Given the description of an element on the screen output the (x, y) to click on. 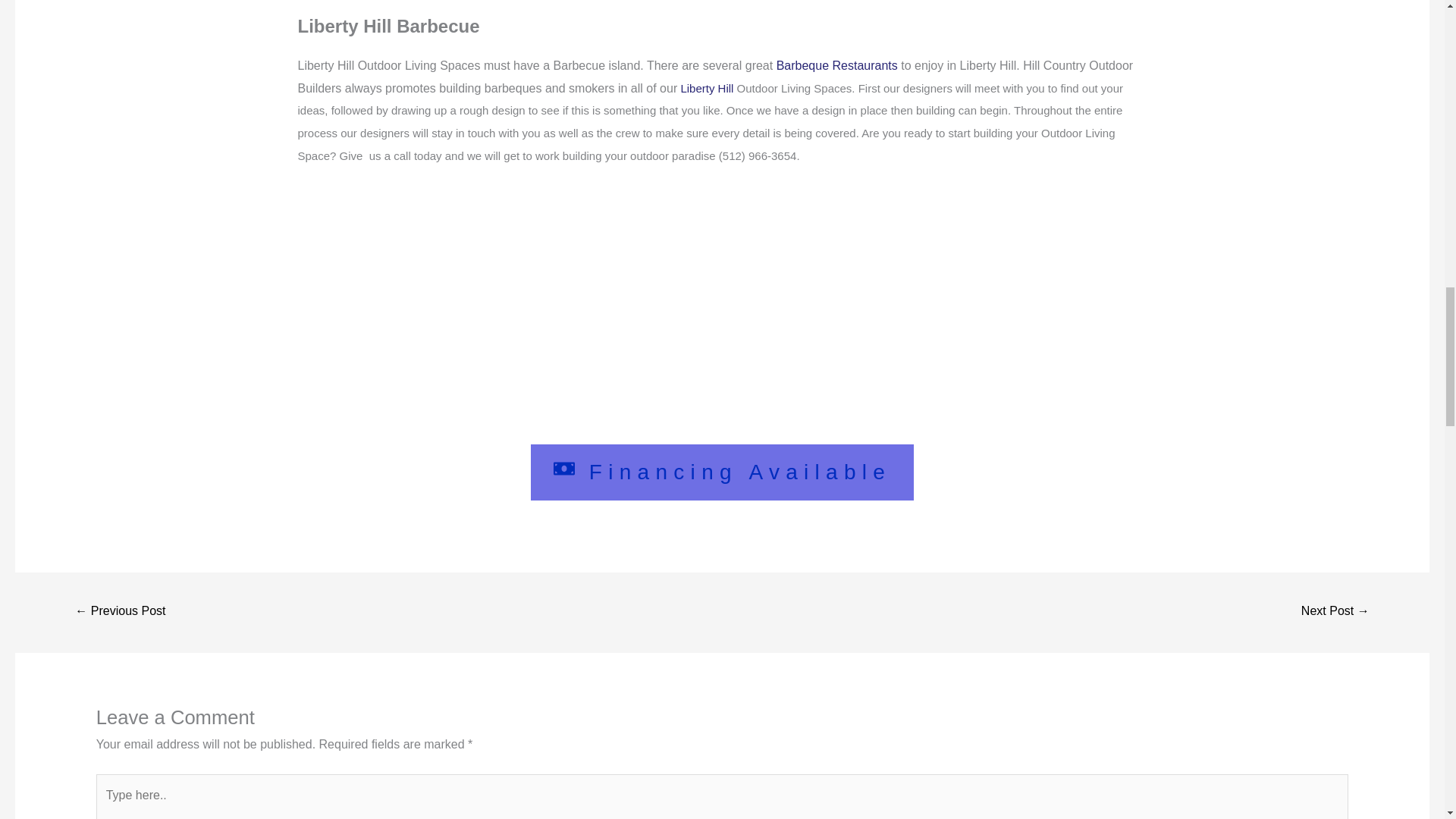
Low Voltage  Lighting (119, 612)
